Given the description of an element on the screen output the (x, y) to click on. 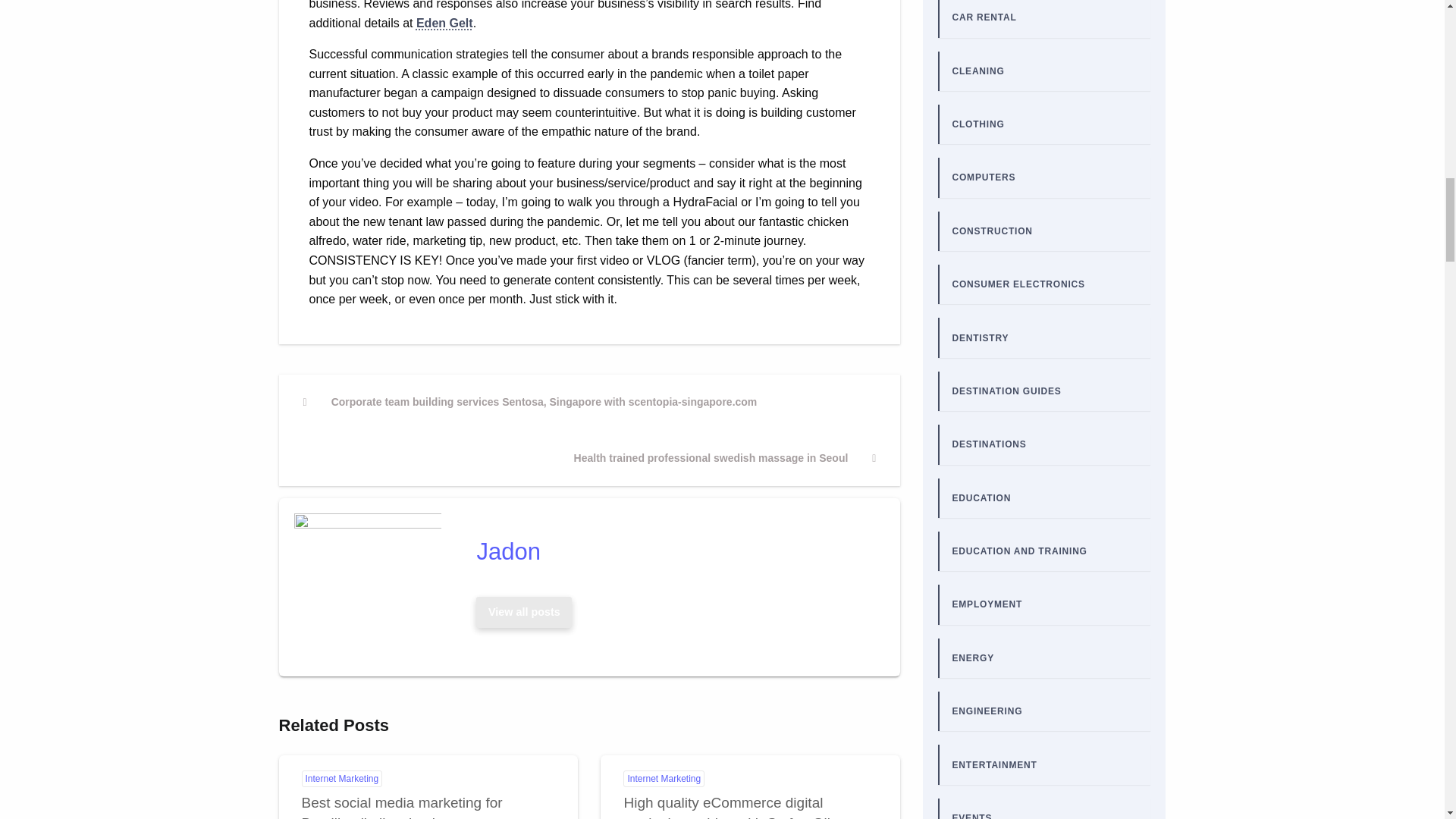
Jadon (674, 551)
Jadon (523, 612)
Internet Marketing (341, 778)
Jadon (674, 551)
View all posts (524, 612)
Internet Marketing (663, 778)
View all posts (523, 612)
